Given the description of an element on the screen output the (x, y) to click on. 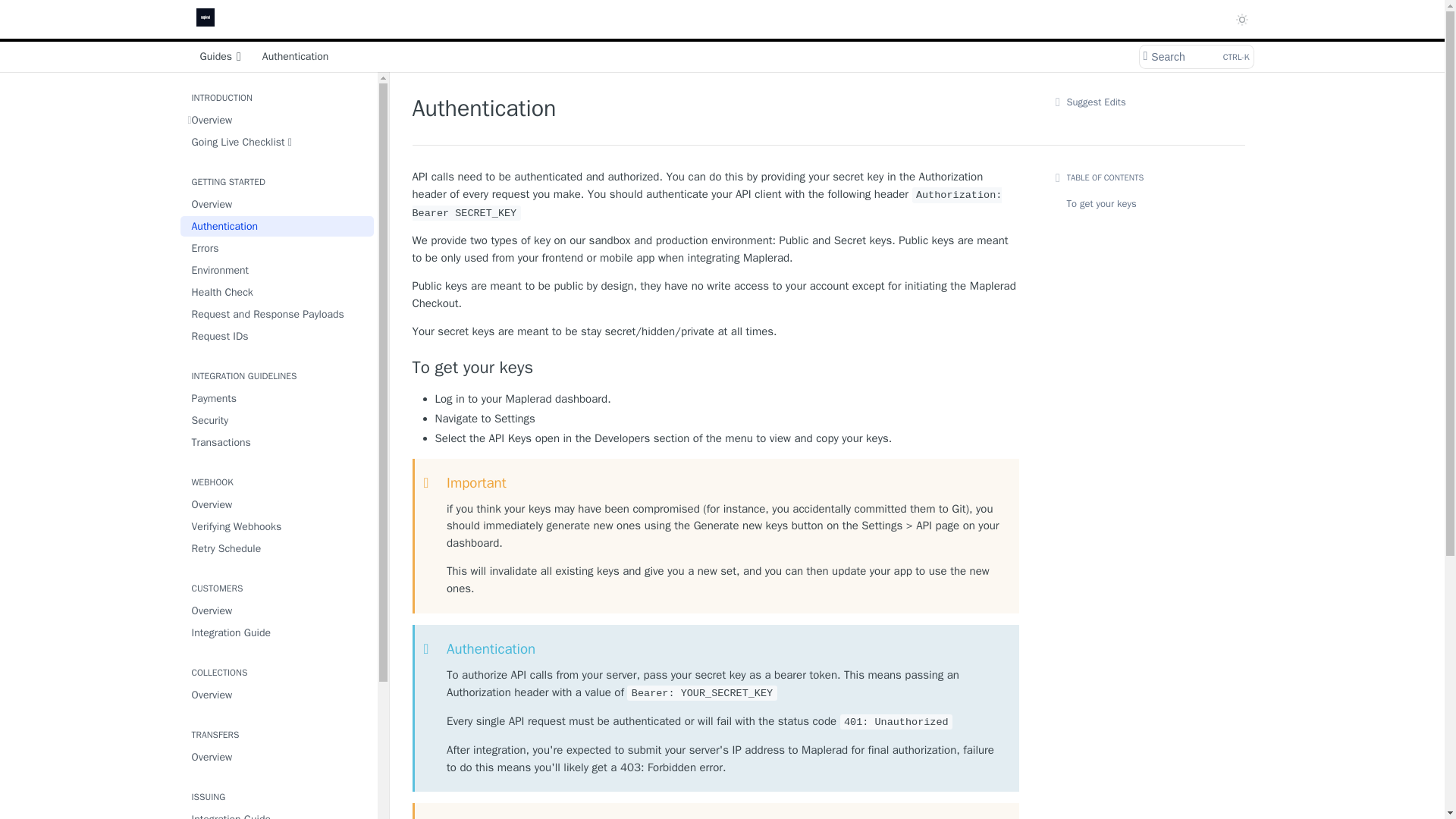
Integration Guide (277, 632)
Authentication (277, 226)
Overview (277, 504)
Overview (277, 694)
Security (277, 420)
Overview (277, 204)
Integration Guide (277, 814)
Request IDs (277, 335)
Environment (277, 270)
Verifying Webhooks (277, 526)
Transactions (277, 442)
Payments (277, 398)
Guides (219, 56)
Overview (277, 756)
